Given the description of an element on the screen output the (x, y) to click on. 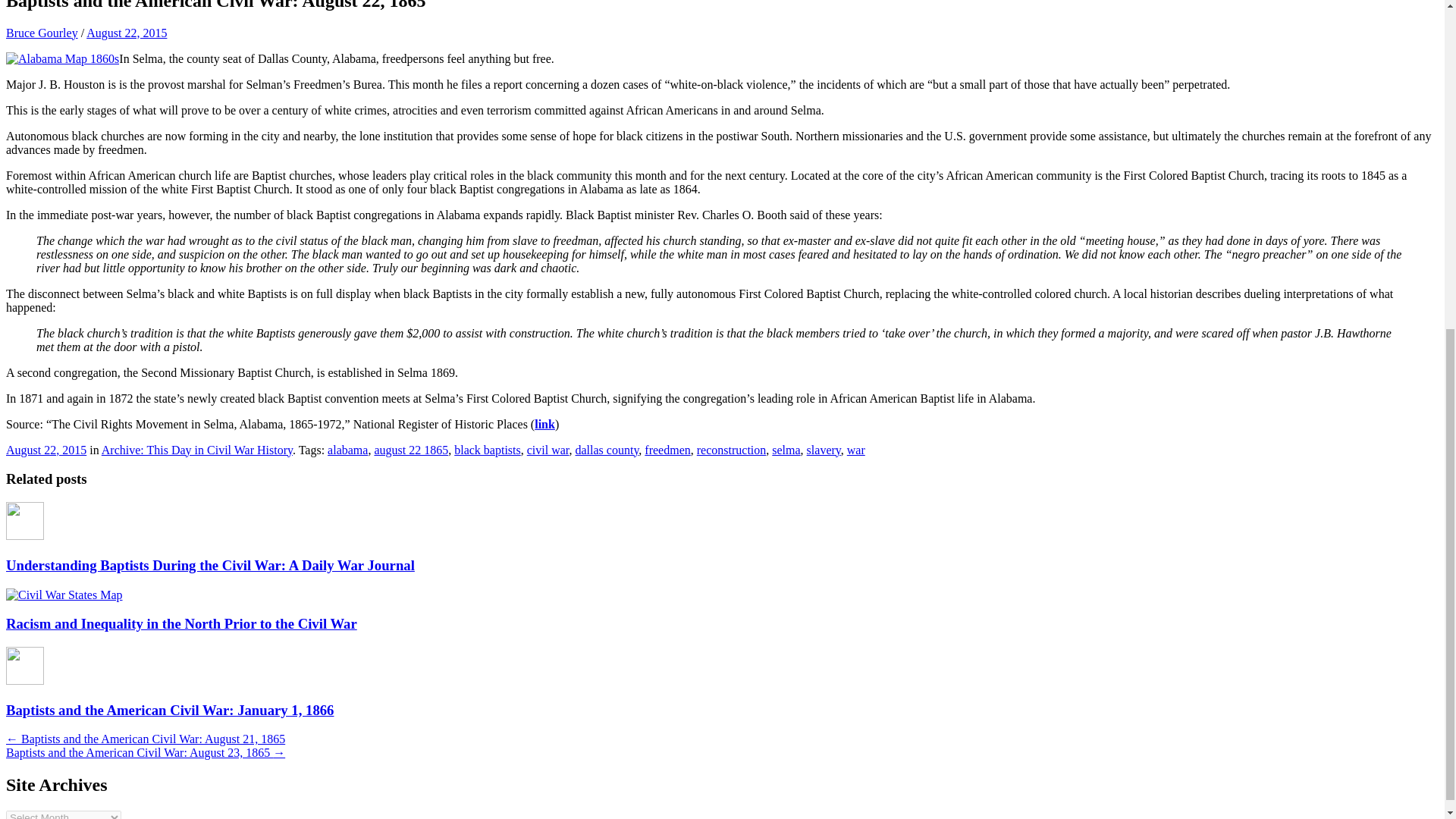
link (544, 423)
dallas county (607, 449)
civil war (548, 449)
august 22 1865 (411, 449)
Archive: This Day in Civil War History (196, 449)
freedmen (667, 449)
August 22, 2015 (126, 32)
reconstruction (732, 449)
black baptists (487, 449)
Bruce Gourley (41, 32)
alabama (347, 449)
August 22, 2015 (45, 449)
